Given the description of an element on the screen output the (x, y) to click on. 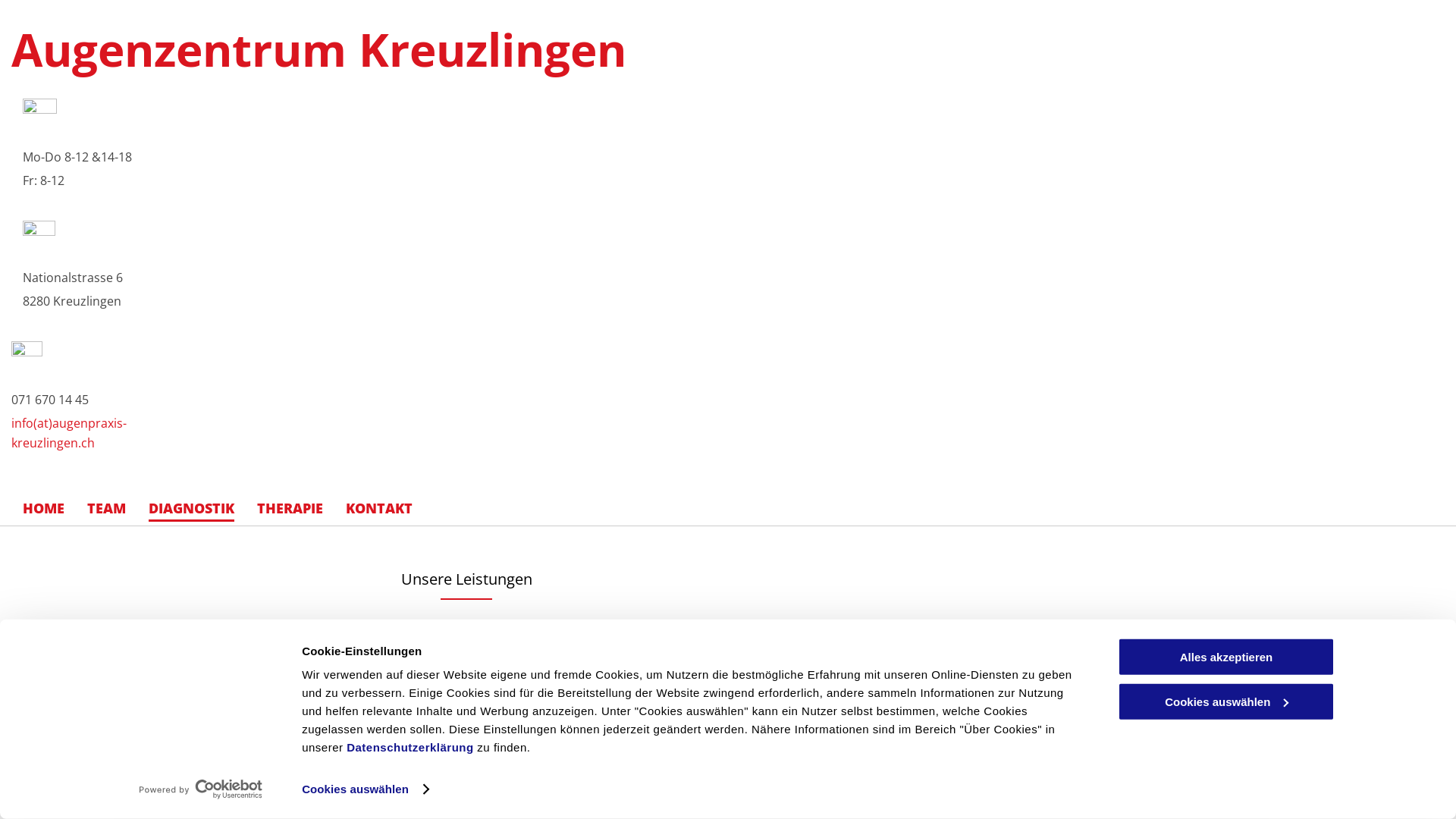
info(at)augenpraxis-kreuzlingen.ch Element type: text (68, 432)
DIAGNOSTIK Element type: text (191, 507)
Augenzentrum Kreuzlingen Element type: text (318, 49)
TEAM Element type: text (106, 507)
Alles akzeptieren Element type: text (1225, 656)
HOME Element type: text (43, 507)
THERAPIE Element type: text (290, 507)
KONTAKT Element type: text (378, 507)
